Given the description of an element on the screen output the (x, y) to click on. 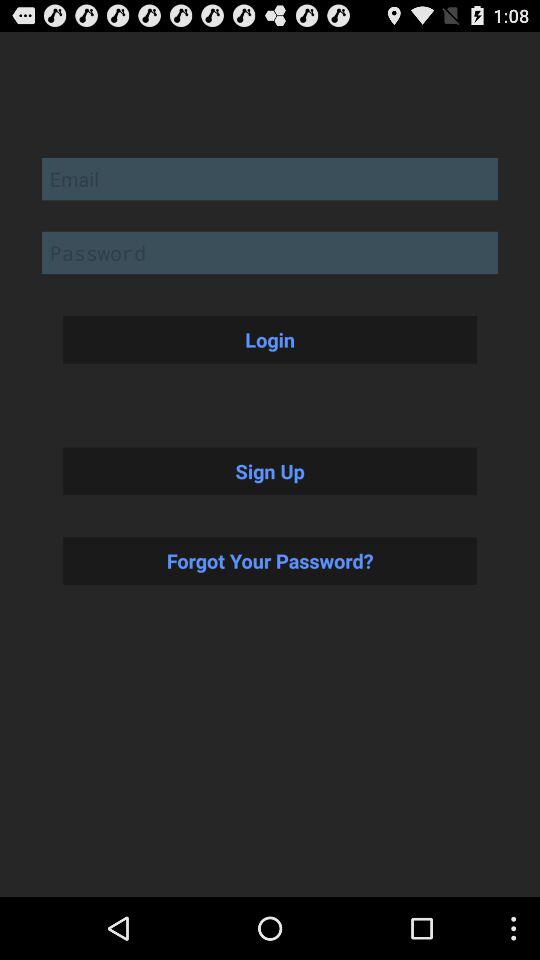
launch the button below sign up button (269, 560)
